Given the description of an element on the screen output the (x, y) to click on. 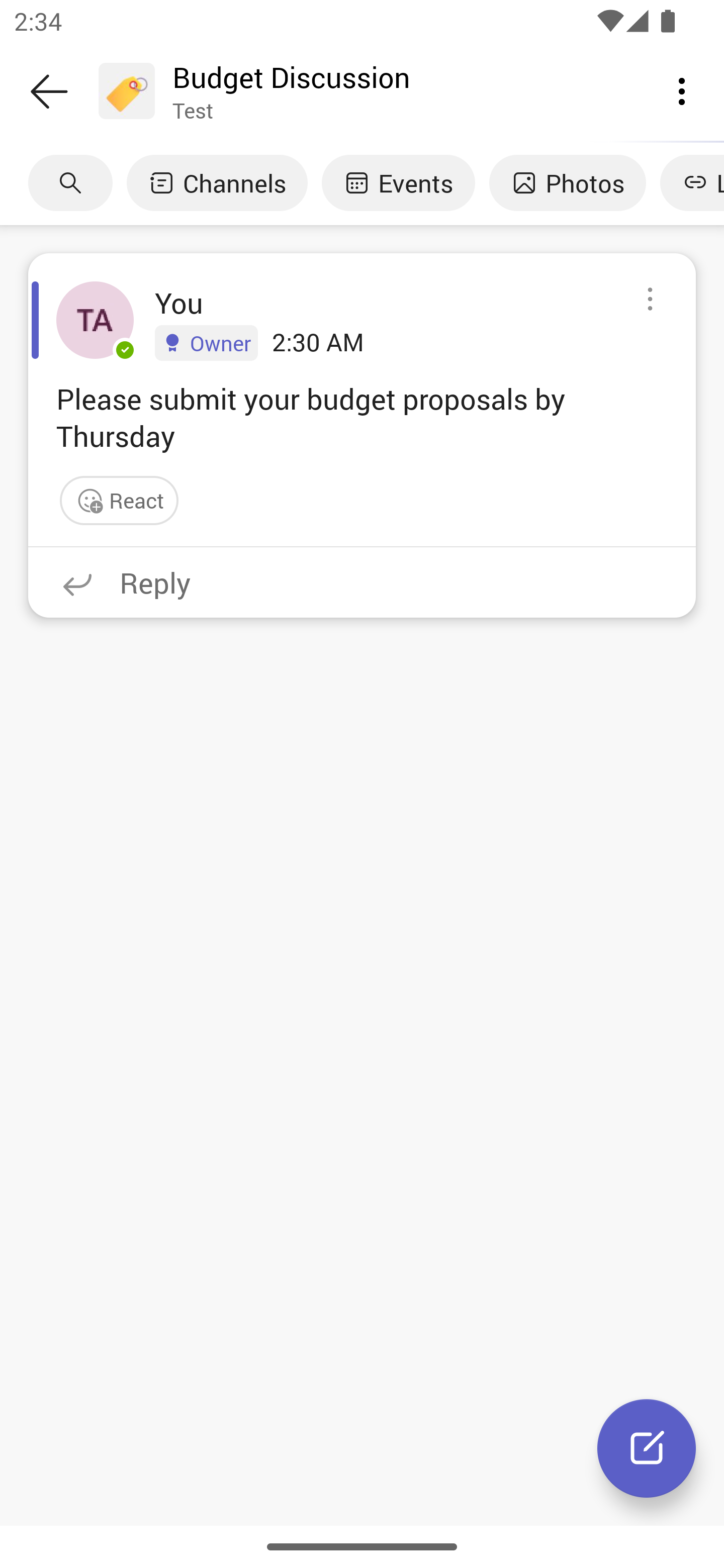
Back (49, 91)
More options (681, 90)
Search tab, 1 of 6 (70, 183)
Channels tab, 2 of 6 Channels (216, 183)
Events tab, 3 of 6 Events (397, 183)
Photos tab, 4 of 6 Photos (567, 183)
Message options button (650, 299)
Test Appium profile picture, Status: Available (94, 319)
You (178, 302)
Owner (205, 342)
Please submit your budget proposals by Thursday (361, 416)
Open reactions React (119, 500)
Reply (361, 582)
New conversation (646, 1447)
